Given the description of an element on the screen output the (x, y) to click on. 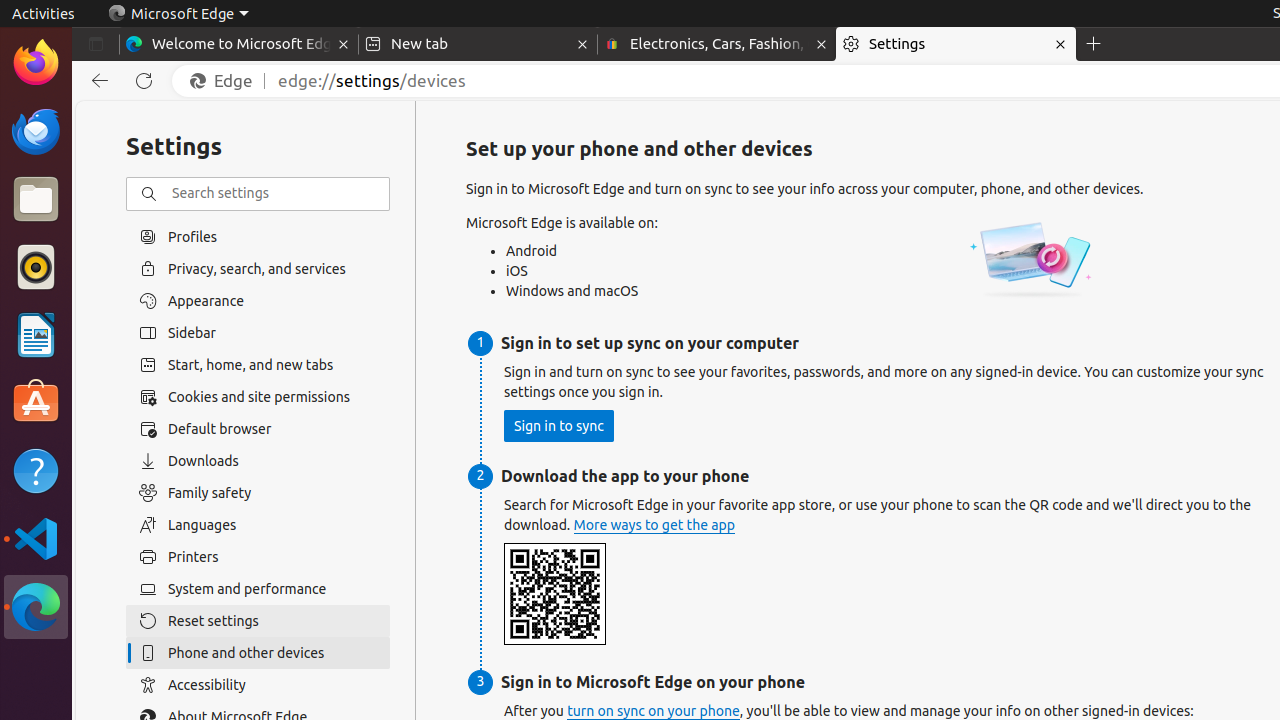
More ways to get the app Element type: link (654, 525)
Microsoft Edge Element type: menu (178, 13)
Refresh Element type: push-button (144, 81)
Languages Element type: tree-item (258, 525)
Visual Studio Code Element type: push-button (36, 538)
